Given the description of an element on the screen output the (x, y) to click on. 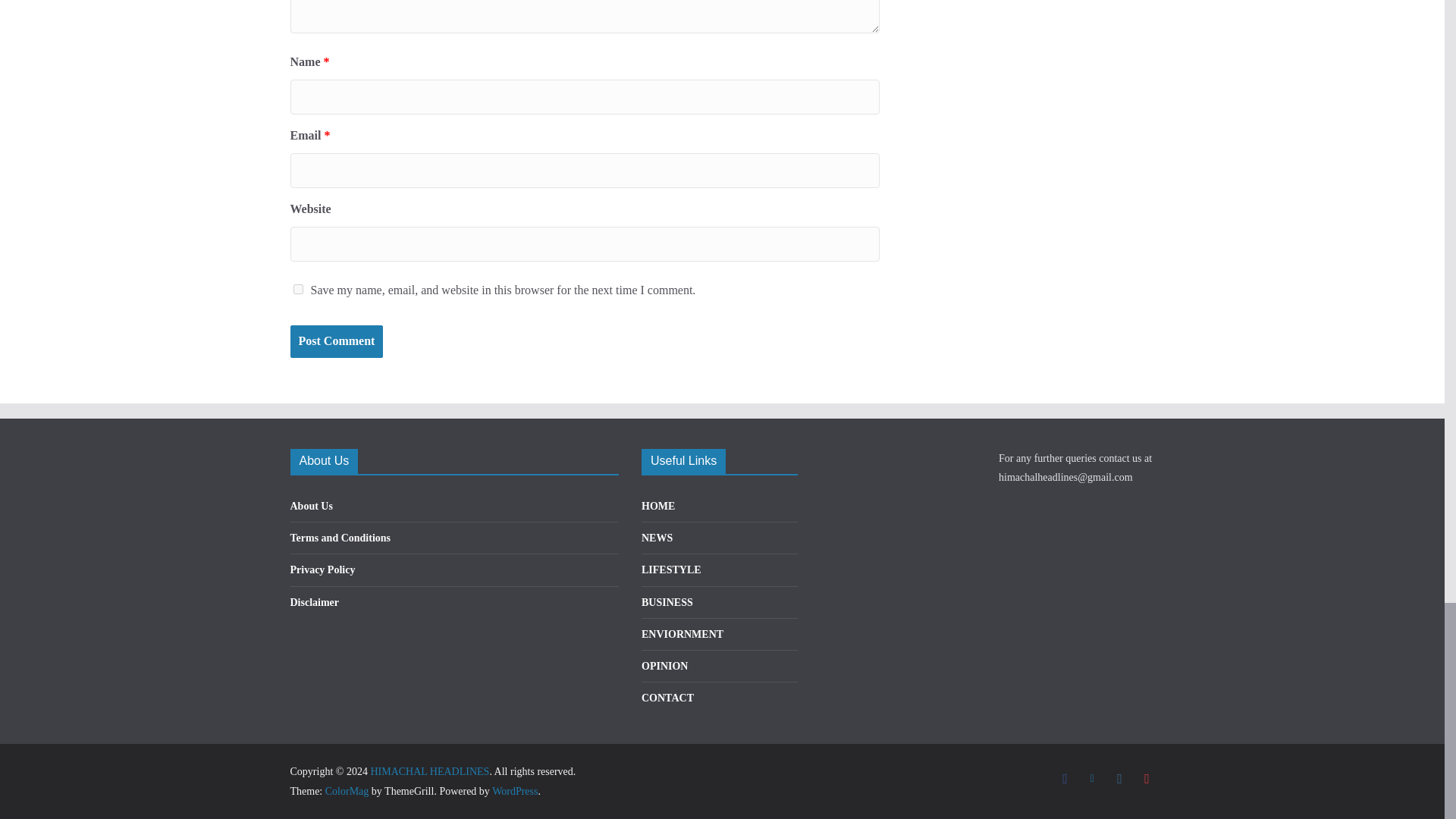
yes (297, 289)
Post Comment (335, 341)
